Given the description of an element on the screen output the (x, y) to click on. 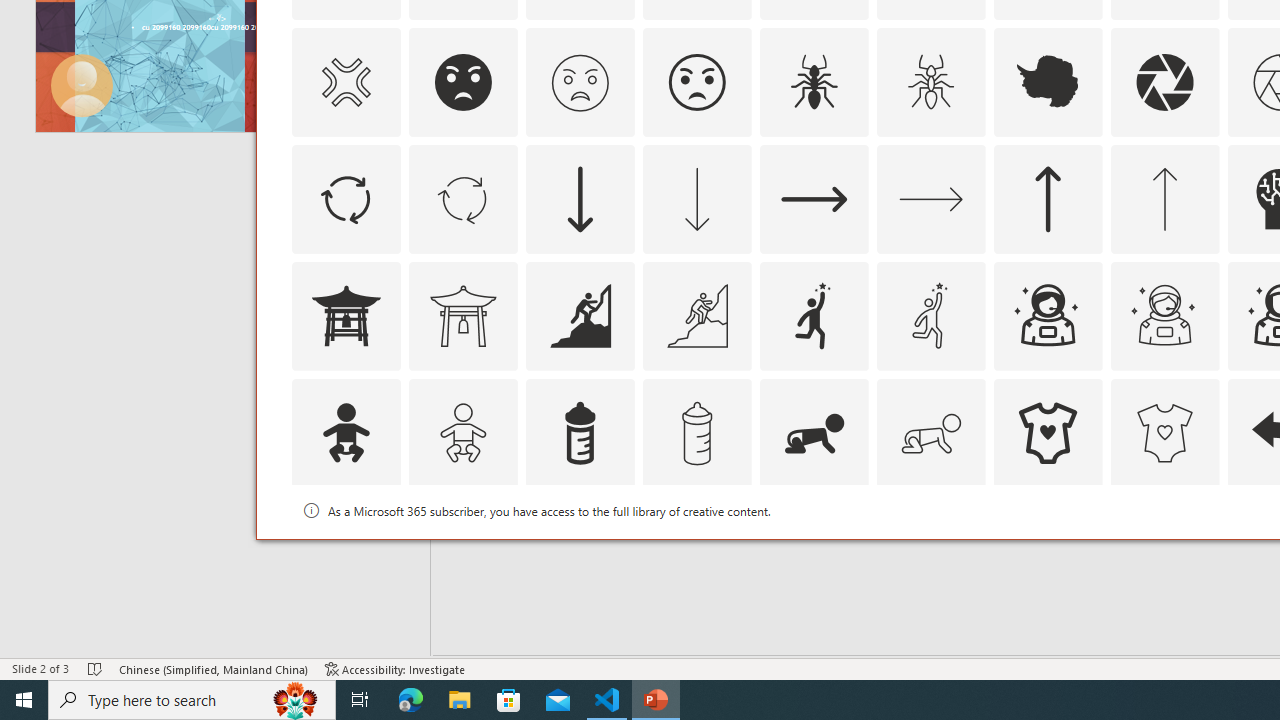
AutomationID: Icons_Aperture (1164, 82)
AutomationID: Icons_Badge5 (1164, 550)
AutomationID: Icons_Badge2_M (579, 550)
AutomationID: Icons_ArrowUp (1048, 198)
AutomationID: Icons_AngryFace_M (579, 82)
Thumbnail (1204, 511)
AutomationID: Icons_Badge3_M (813, 550)
